Given the description of an element on the screen output the (x, y) to click on. 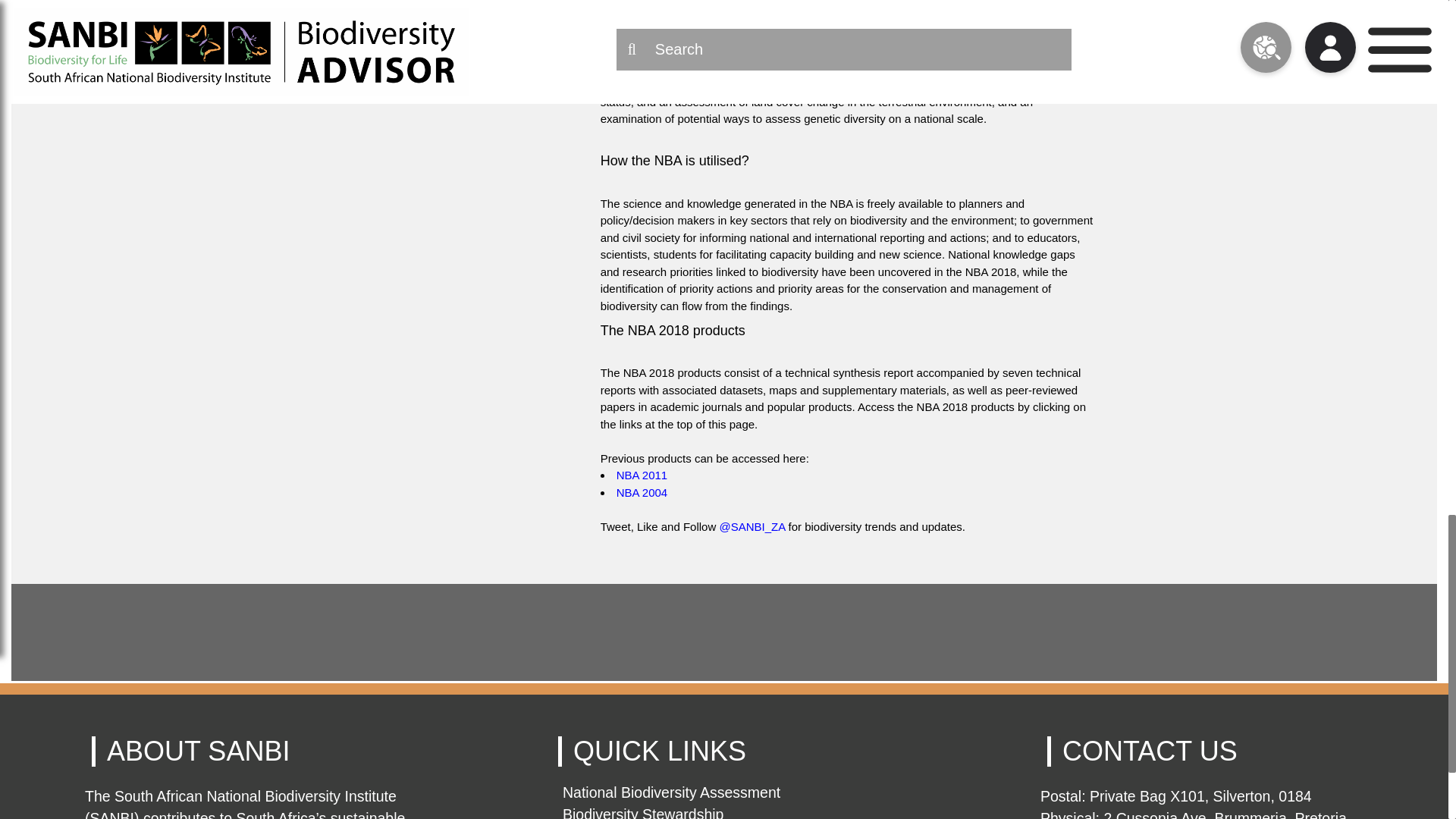
Biodiversity Stewardship (642, 812)
National Biodiversity Assessment (671, 791)
NBA 2011 (641, 474)
NBA 2004 (641, 492)
